Given the description of an element on the screen output the (x, y) to click on. 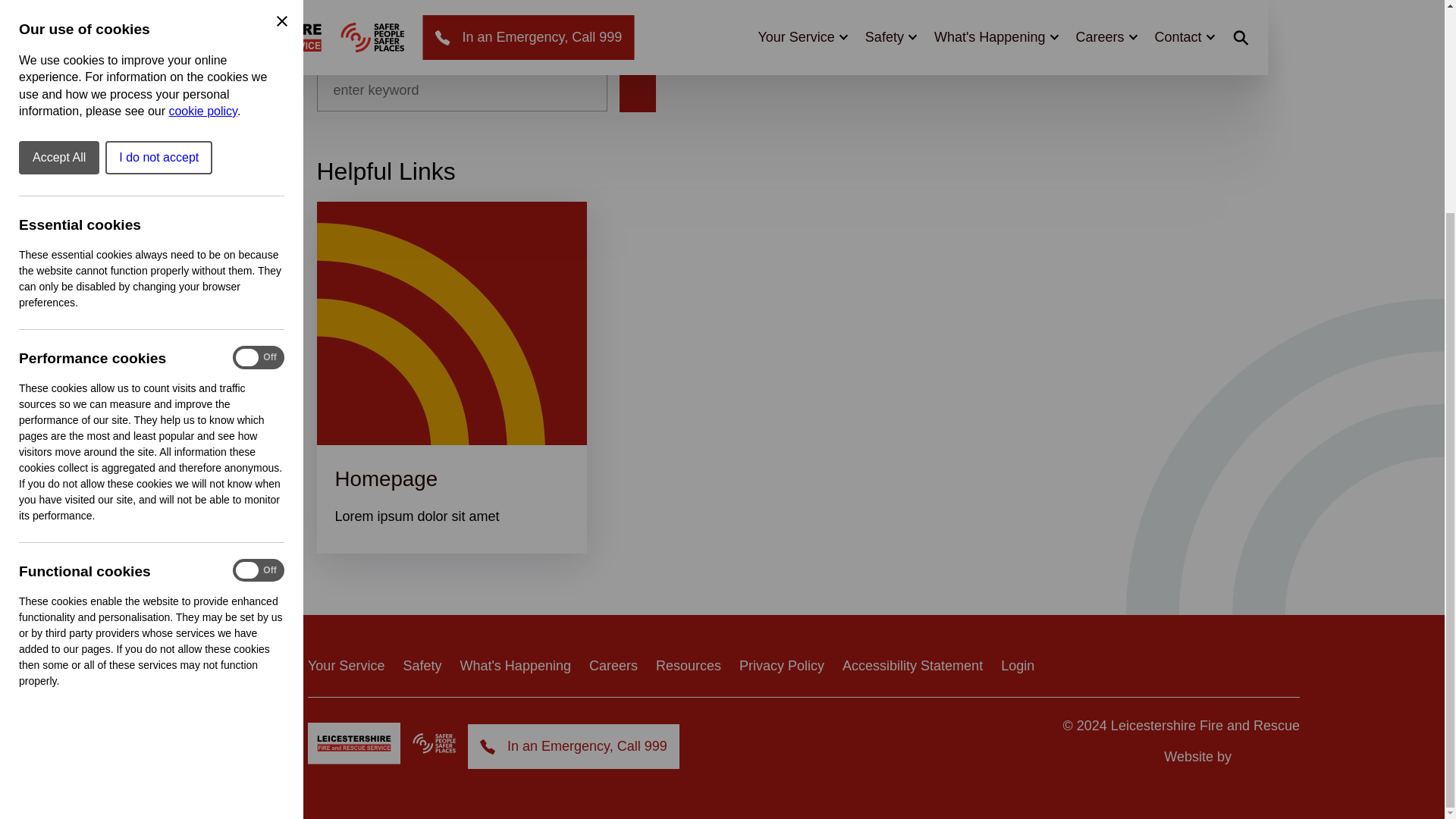
Type search term here (462, 90)
Safer Plaaces Logo (433, 743)
Homepage (386, 478)
